Given the description of an element on the screen output the (x, y) to click on. 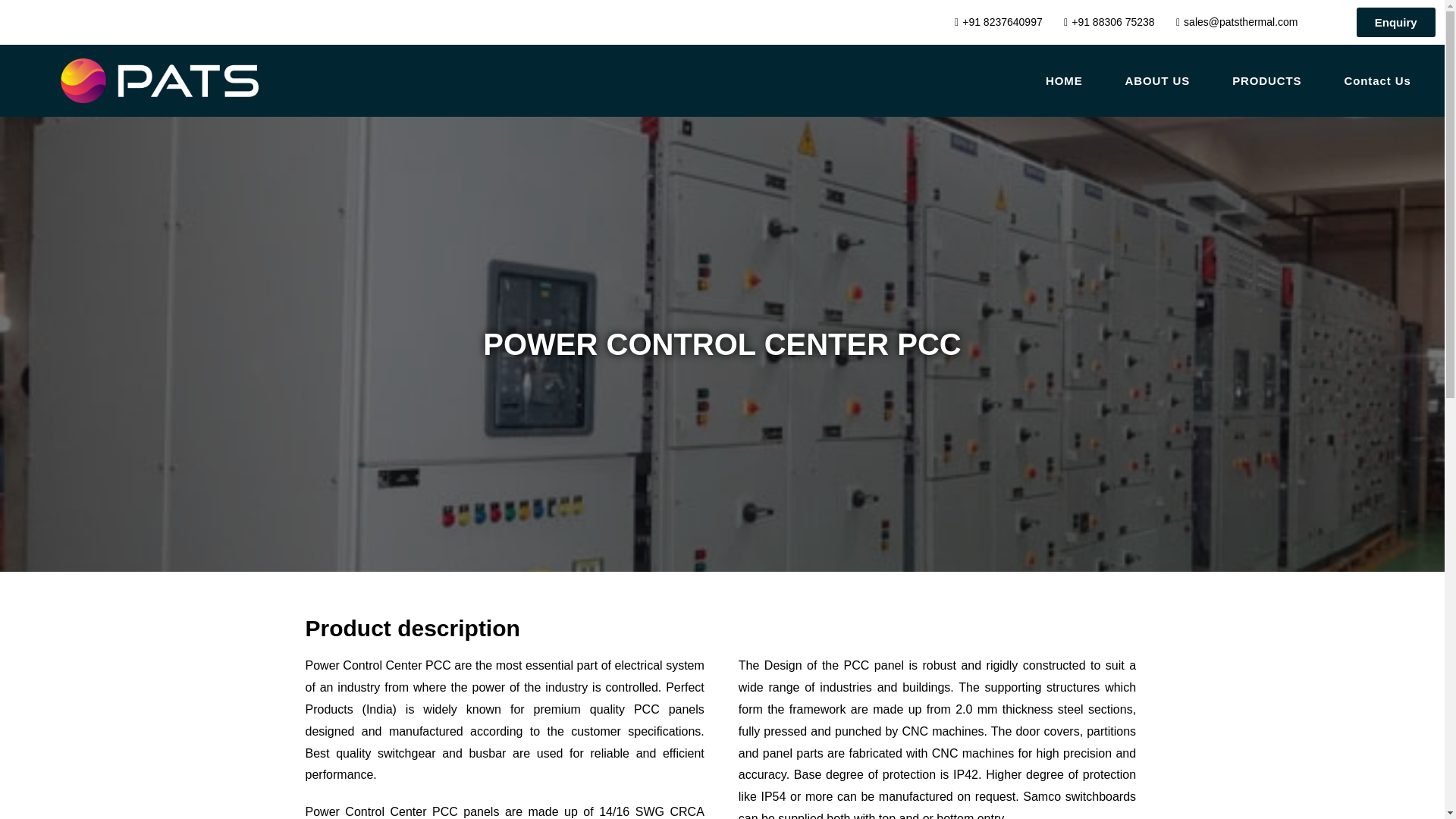
ABOUT US (1157, 80)
HOME (1064, 80)
Enquiry (1395, 21)
PRODUCTS (1266, 80)
